Given the description of an element on the screen output the (x, y) to click on. 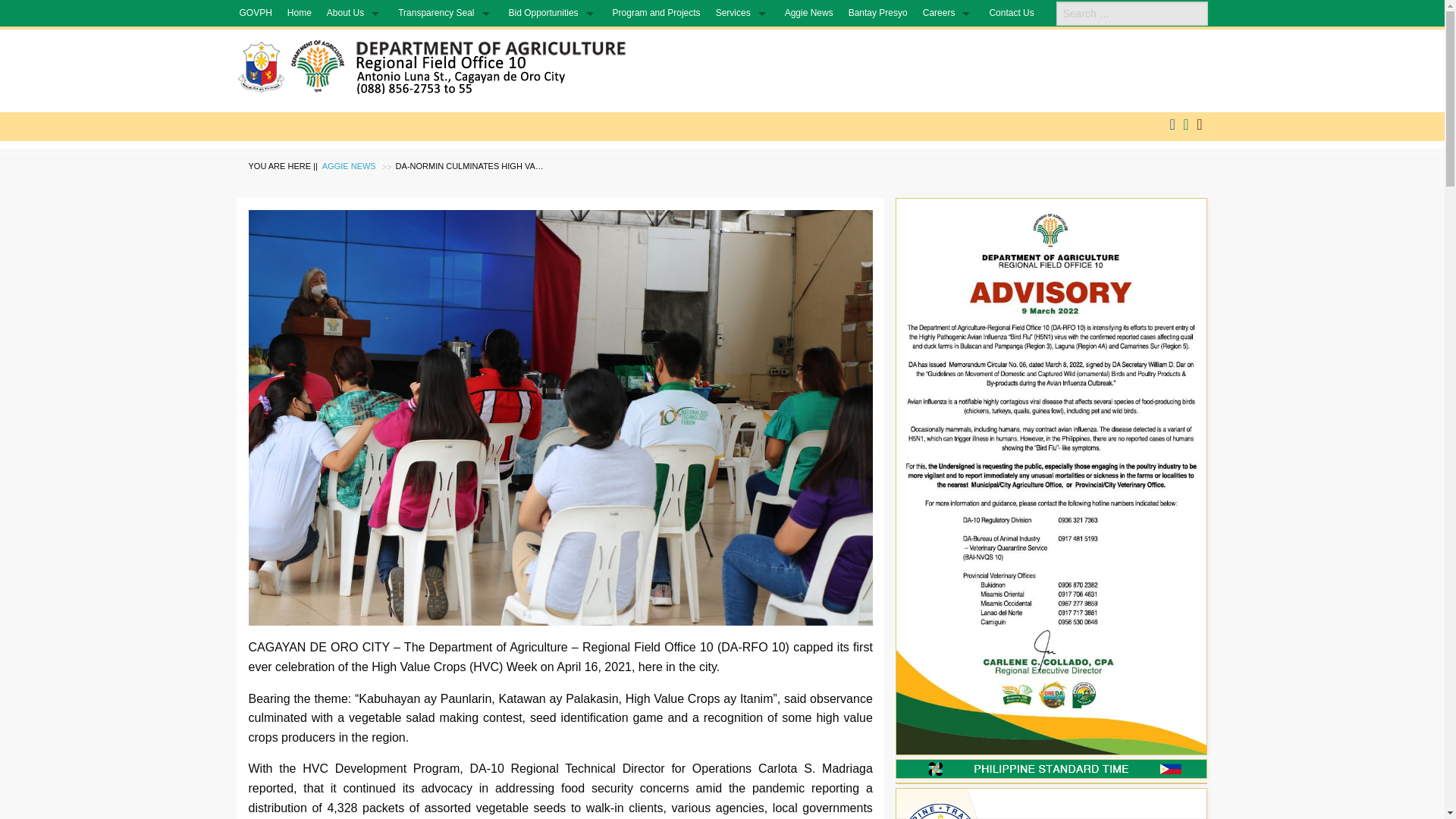
Search for: (1131, 13)
